Given the description of an element on the screen output the (x, y) to click on. 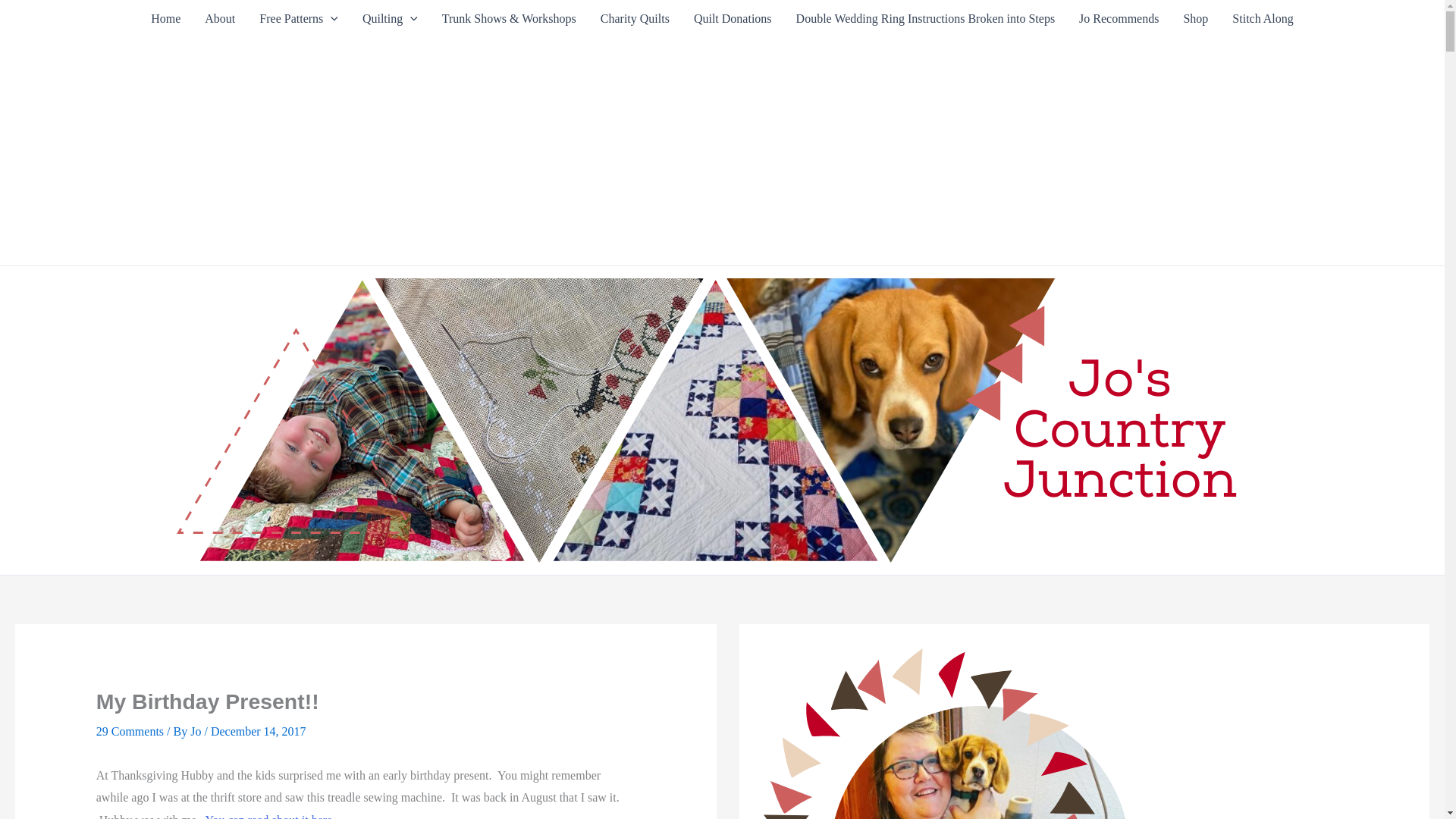
Free Patterns (298, 18)
Quilting (389, 18)
Quilt Donations (732, 18)
Home (165, 18)
Charity Quilts (634, 18)
Quilts of 2012 (389, 18)
View all posts by Jo (196, 730)
About (219, 18)
